Given the description of an element on the screen output the (x, y) to click on. 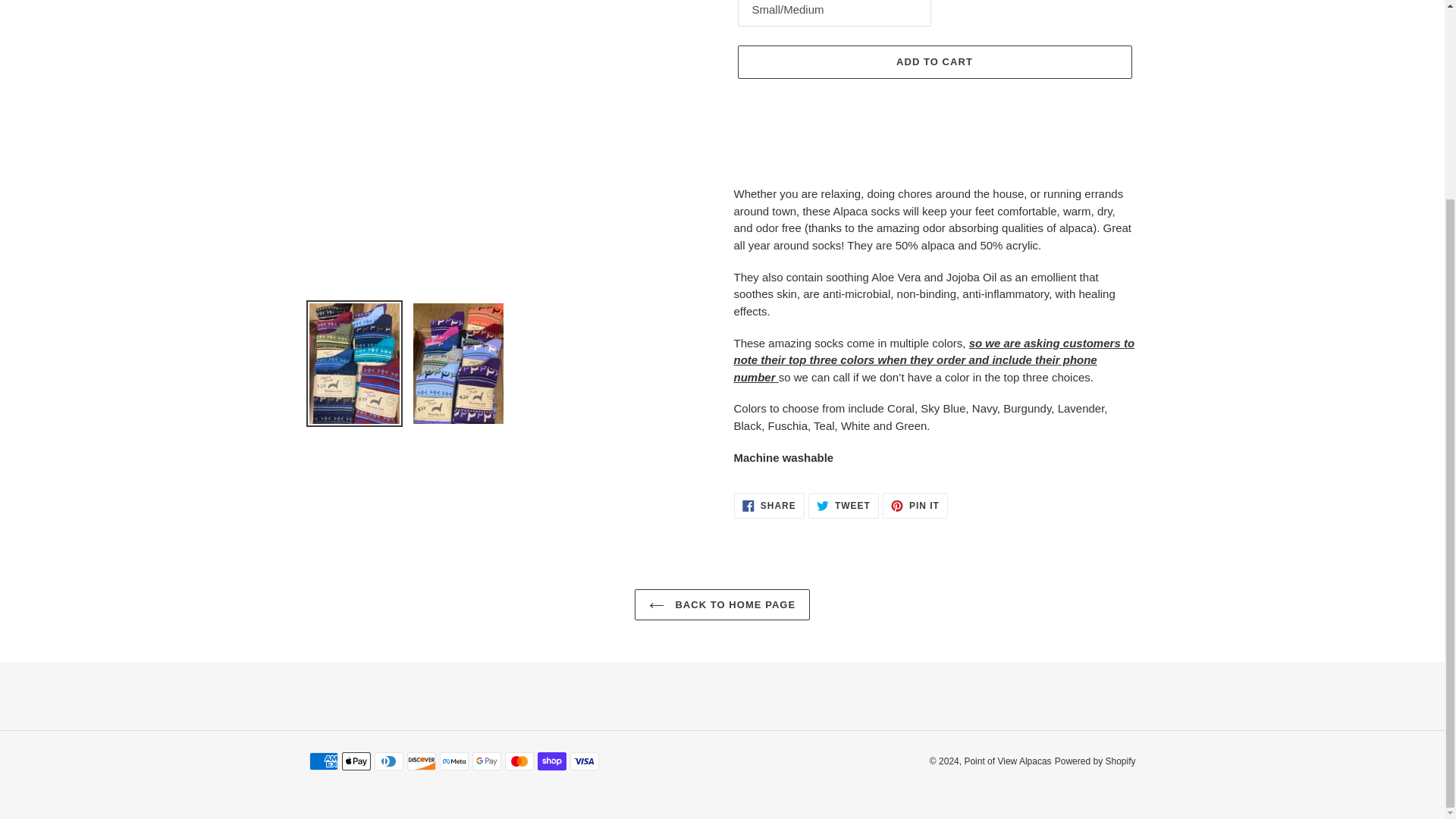
Point of View Alpacas (914, 505)
ADD TO CART (1007, 760)
Powered by Shopify (933, 61)
BACK TO HOME PAGE (769, 505)
